Given the description of an element on the screen output the (x, y) to click on. 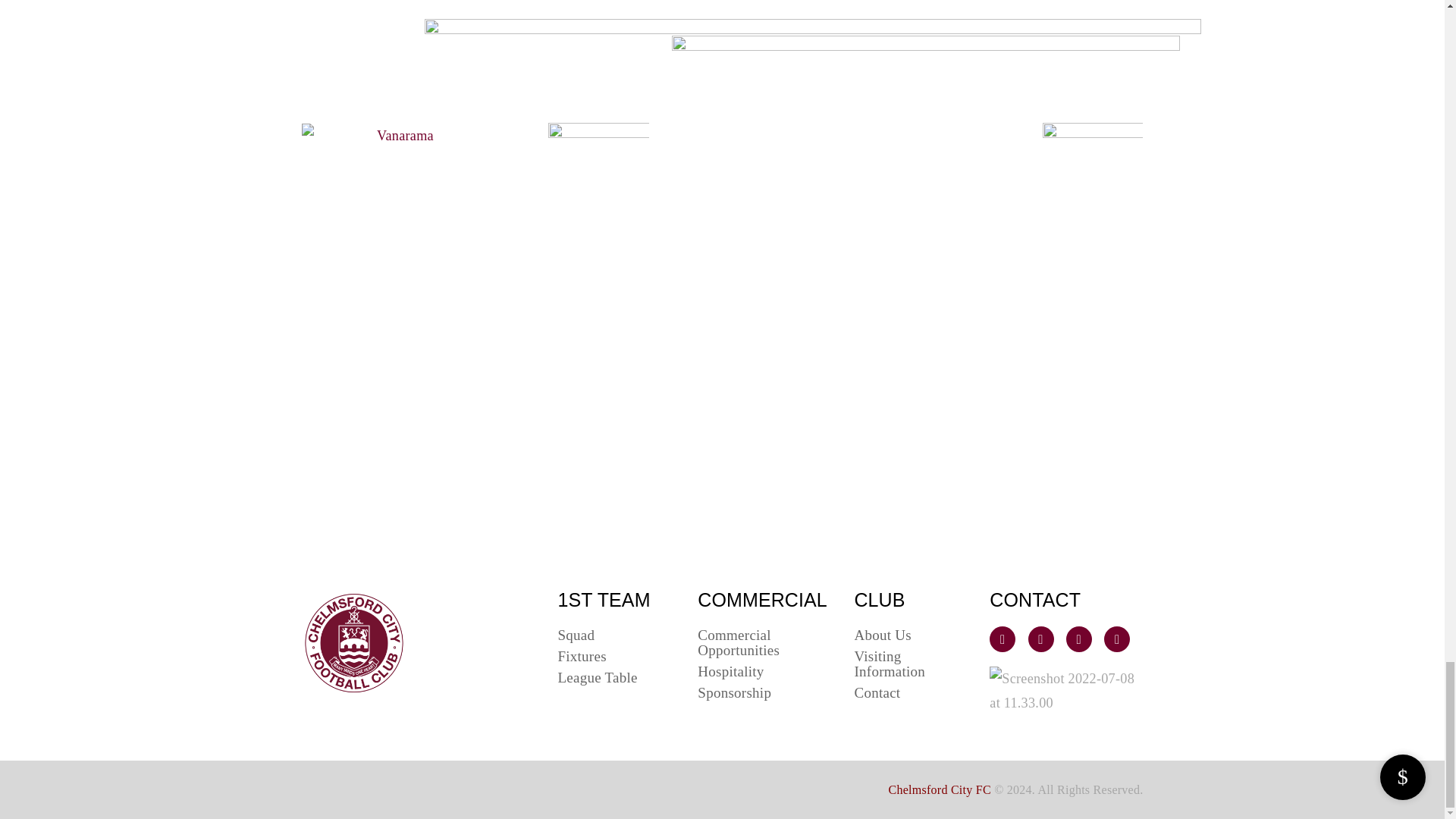
Screenshot 2022-07-08 at 11.33.00 (1063, 690)
